Given the description of an element on the screen output the (x, y) to click on. 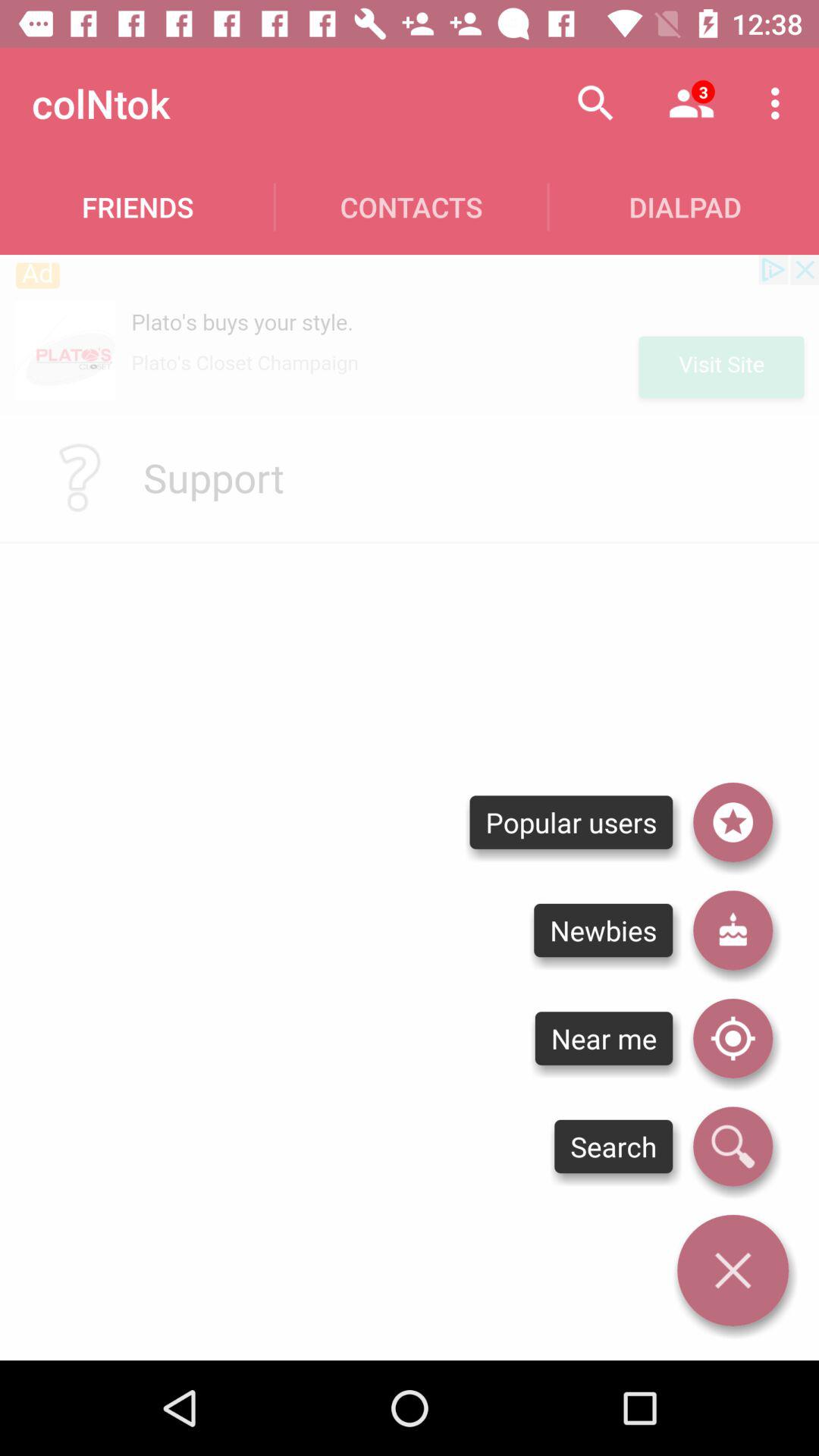
click support item (213, 477)
